Given the description of an element on the screen output the (x, y) to click on. 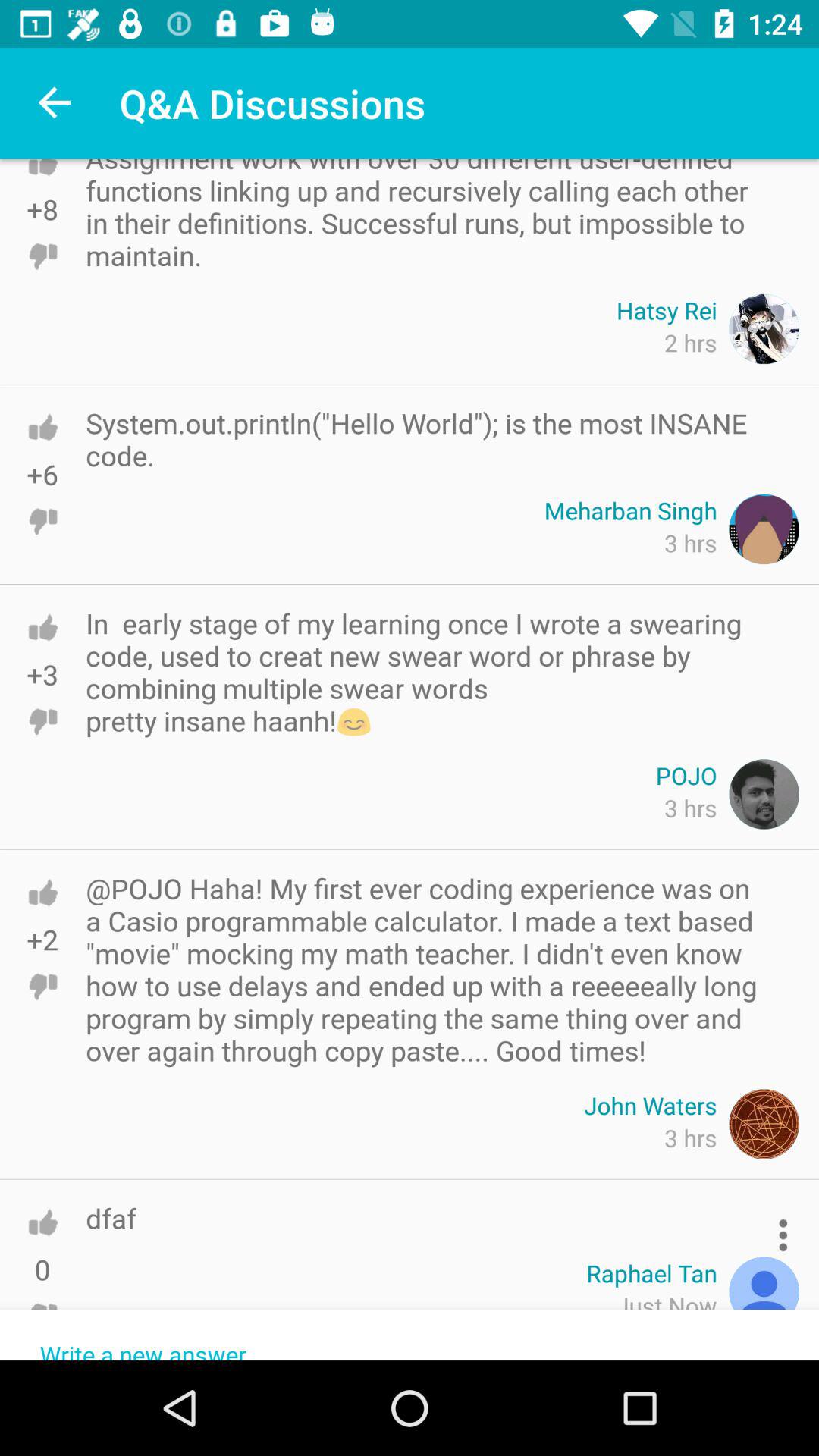
thumbs down post (42, 256)
